Given the description of an element on the screen output the (x, y) to click on. 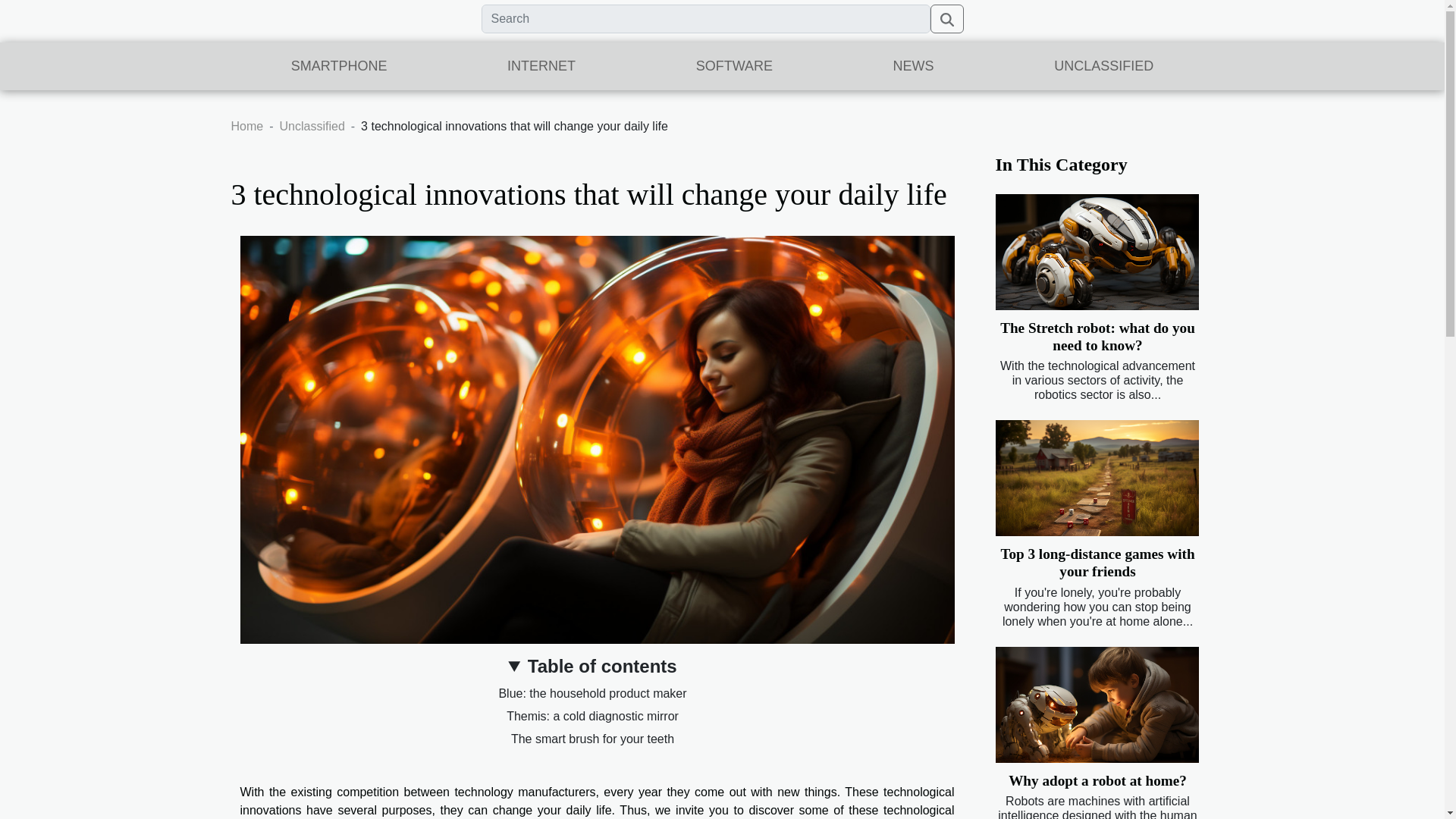
Why adopt a robot at home? (1097, 780)
Top 3 long-distance games with your friends (1096, 562)
UNCLASSIFIED (1104, 66)
Home (246, 125)
Why adopt a robot at home? (1097, 780)
Themis: a cold diagnostic mirror (592, 716)
Unclassified (312, 125)
The Stretch robot: what do you need to know? (1097, 336)
INTERNET (542, 66)
Blue: the household product maker (591, 693)
